Given the description of an element on the screen output the (x, y) to click on. 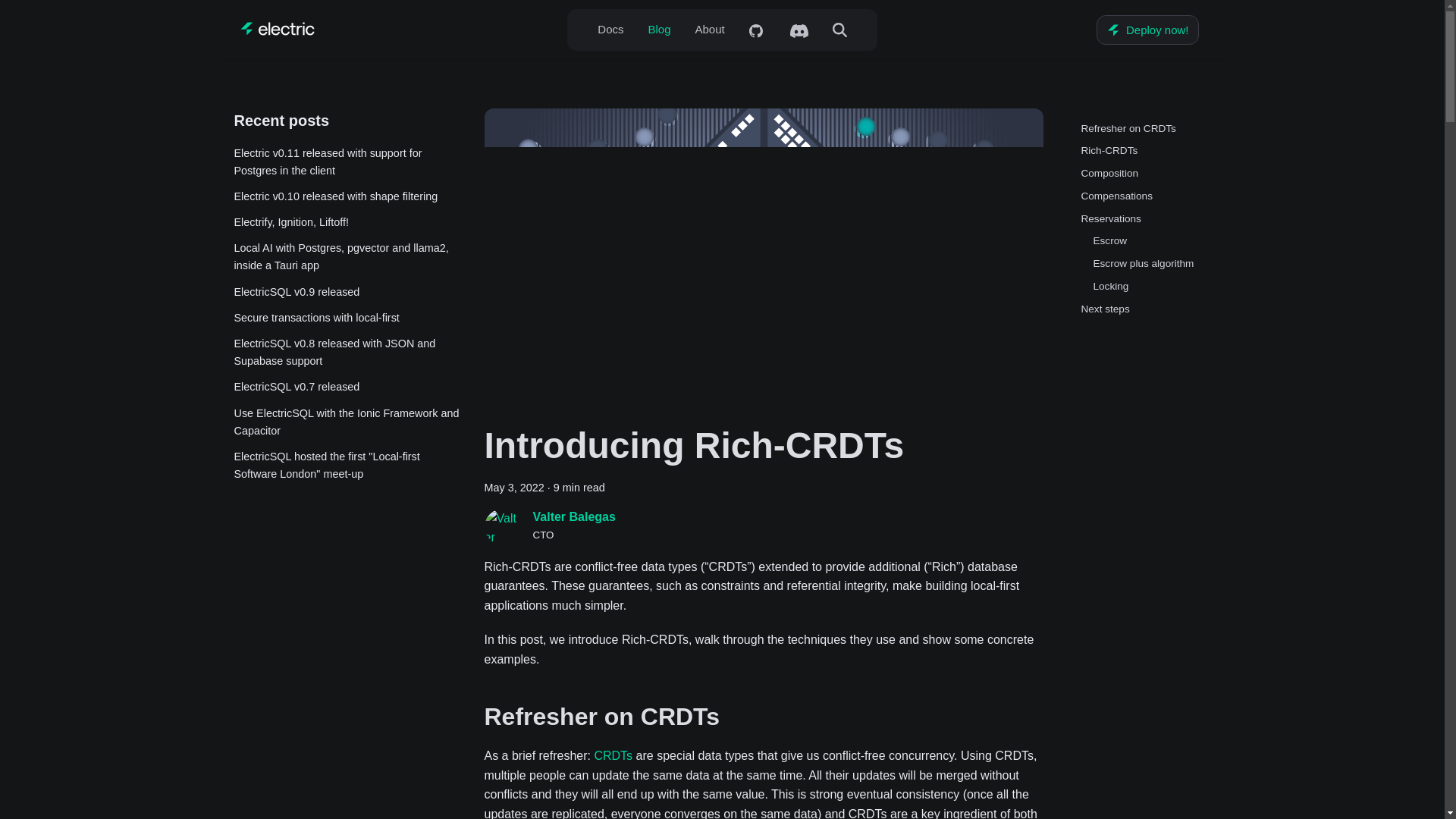
Docs (609, 29)
Valter Balegas (573, 516)
Use ElectricSQL with the Ionic Framework and Capacitor (346, 421)
Electric v0.10 released with shape filtering (346, 196)
ElectricSQL v0.8 released with JSON and Supabase support (346, 352)
Electrify, Ignition, Liftoff! (346, 221)
ElectricSQL v0.7 released (346, 386)
CRDTs (612, 755)
About (709, 29)
Secure transactions with local-first (346, 317)
Deploy now! (1147, 30)
ElectricSQL v0.9 released (346, 292)
